Given the description of an element on the screen output the (x, y) to click on. 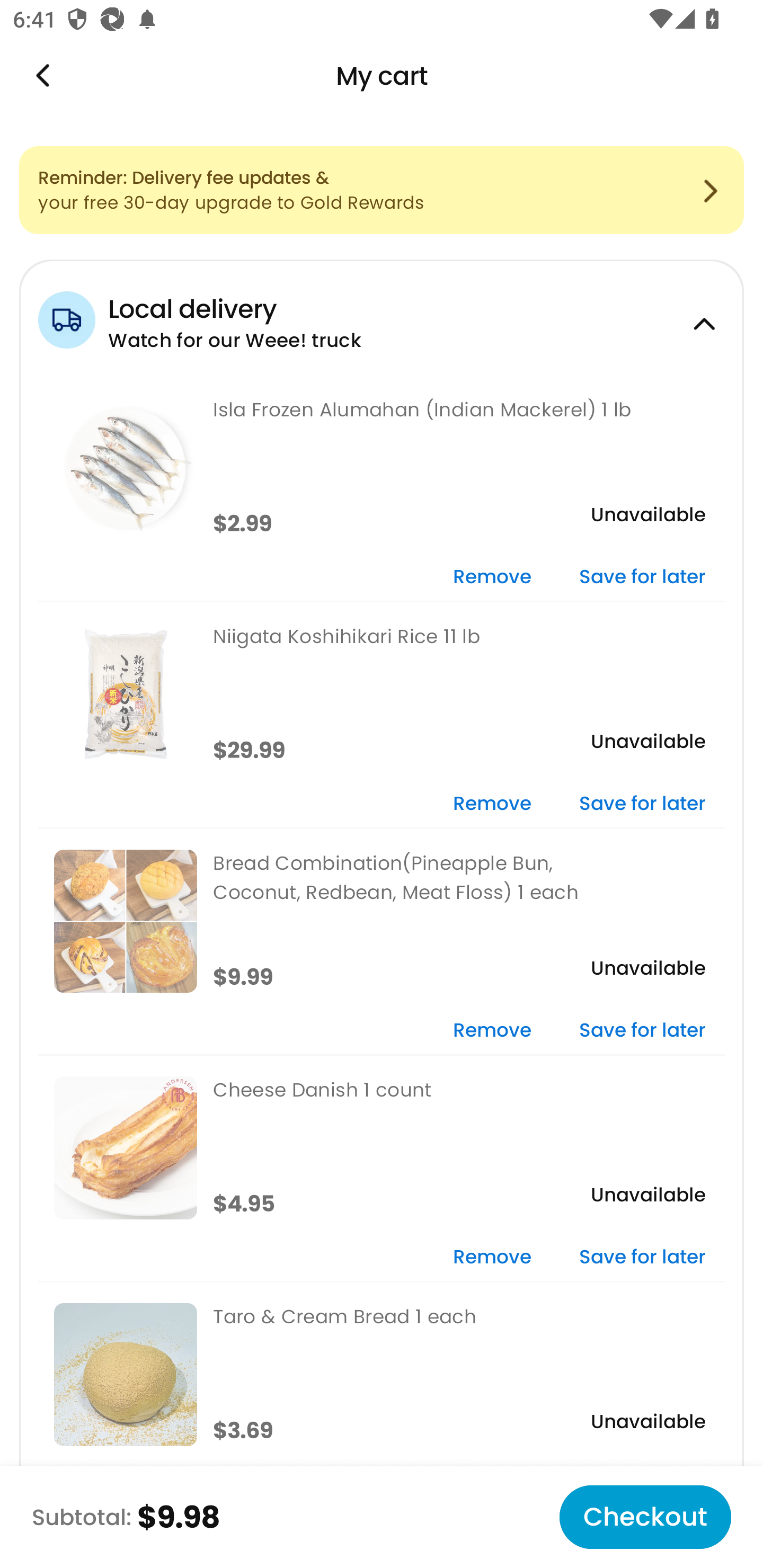
Local delivery Watch for our Weee! truck (381, 317)
Remove (491, 577)
Save for later (642, 577)
Remove (491, 804)
Save for later (642, 804)
Remove (491, 1030)
Save for later (642, 1030)
Remove (491, 1258)
Save for later (642, 1258)
Checkout (644, 1516)
